Given the description of an element on the screen output the (x, y) to click on. 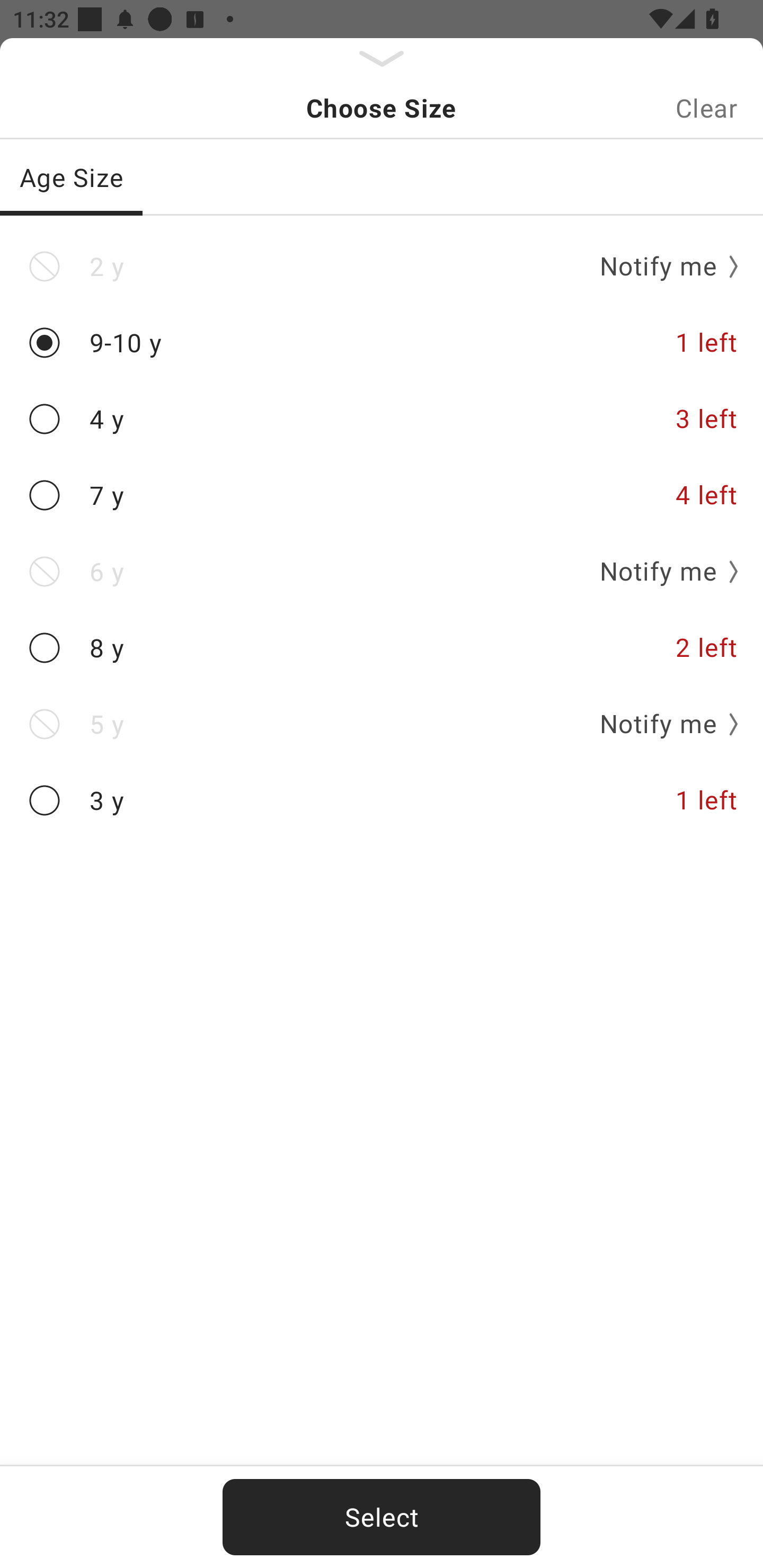
Clear (706, 107)
2 y Notify me (381, 266)
Notify me (661, 266)
9-10 y 1 left (381, 342)
4 y 3 left (381, 419)
7 y 4 left (381, 495)
6 y Notify me (381, 571)
Notify me (661, 571)
8 y 2 left (381, 647)
5 y Notify me (381, 724)
Notify me (661, 724)
3 y 1 left (381, 800)
Select (381, 1516)
